Given the description of an element on the screen output the (x, y) to click on. 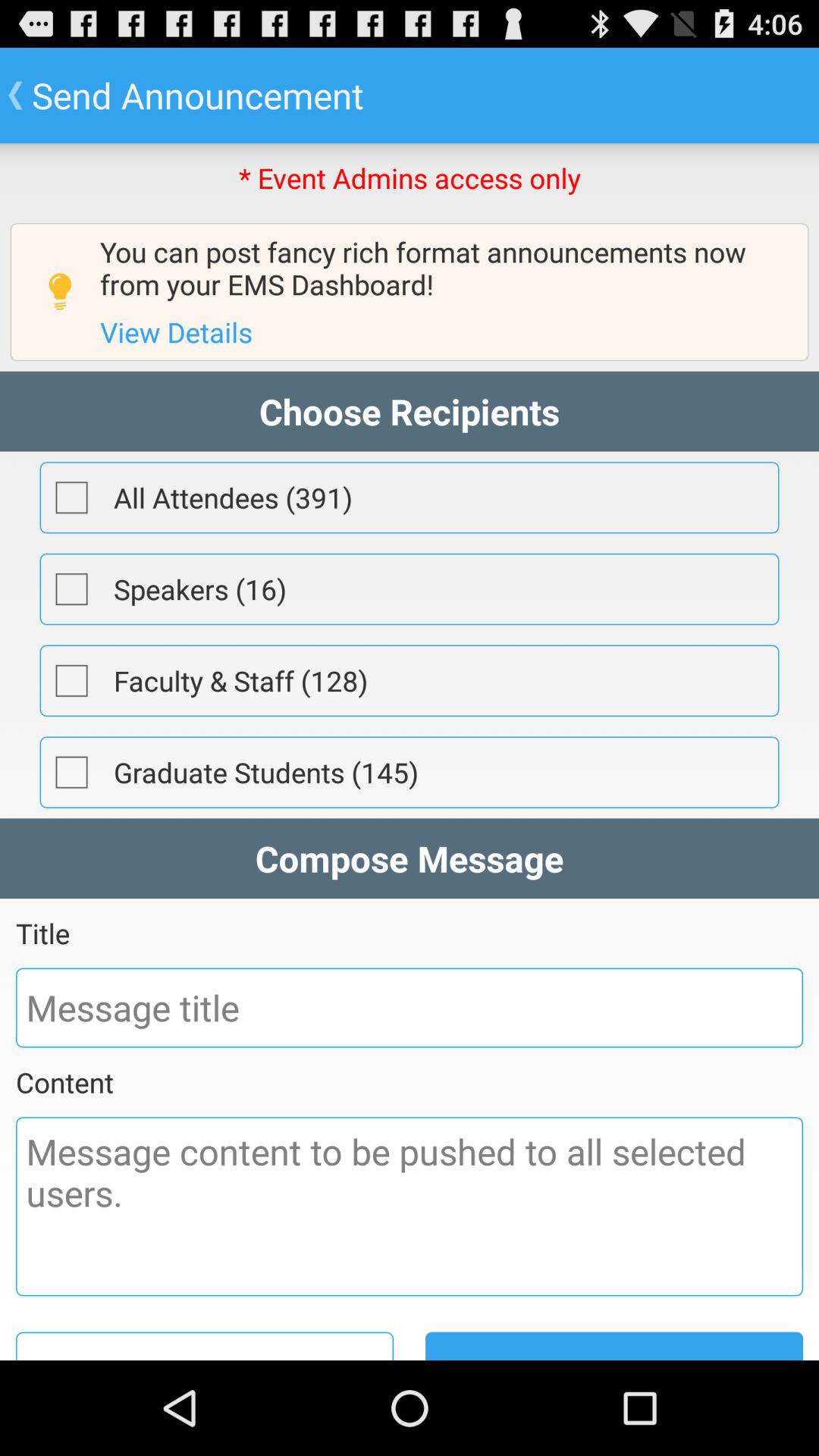
subject or title box (409, 1007)
